Given the description of an element on the screen output the (x, y) to click on. 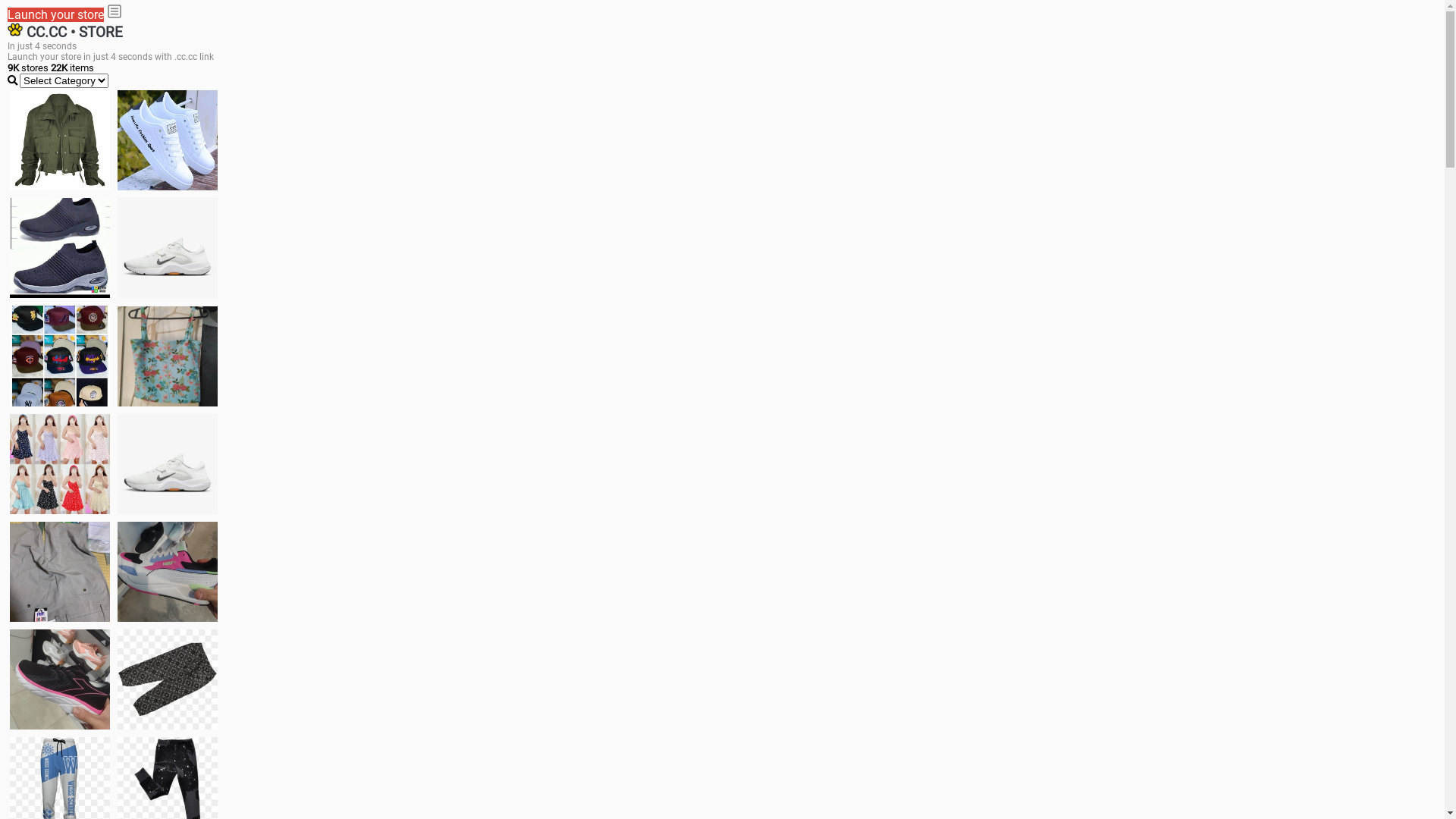
Things we need Element type: hover (59, 355)
Shoes Element type: hover (167, 464)
Zapatillas Element type: hover (59, 679)
white shoes Element type: hover (167, 140)
jacket Element type: hover (59, 140)
Dress/square nect top Element type: hover (59, 464)
Zapatillas pumas Element type: hover (167, 571)
Short pant Element type: hover (167, 679)
Ukay cloth Element type: hover (167, 356)
Launch your store Element type: text (55, 14)
shoes for boys Element type: hover (59, 247)
Shoes for boys Element type: hover (167, 247)
